Given the description of an element on the screen output the (x, y) to click on. 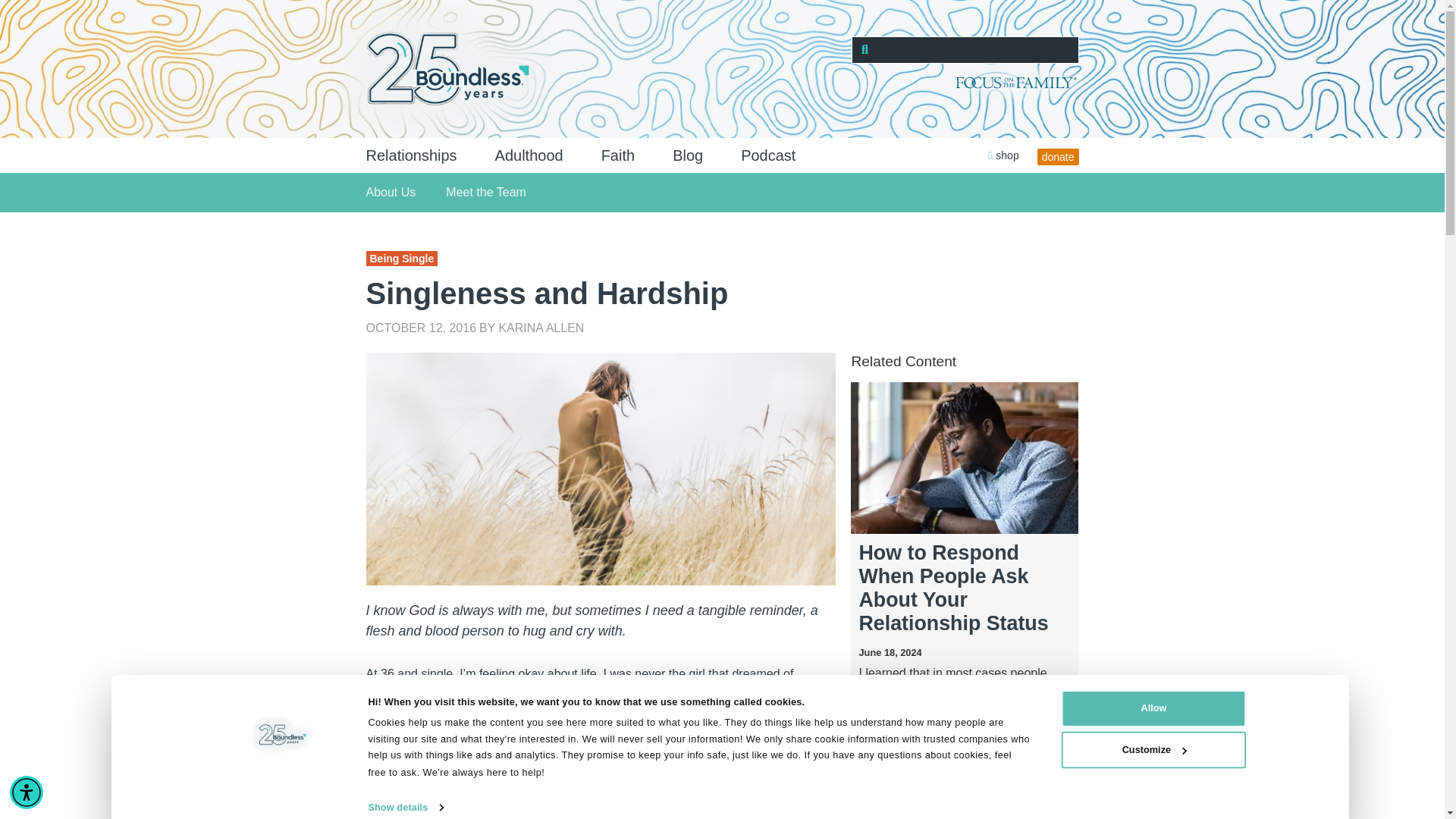
Accessibility Menu (26, 792)
Show details (412, 808)
